Given the description of an element on the screen output the (x, y) to click on. 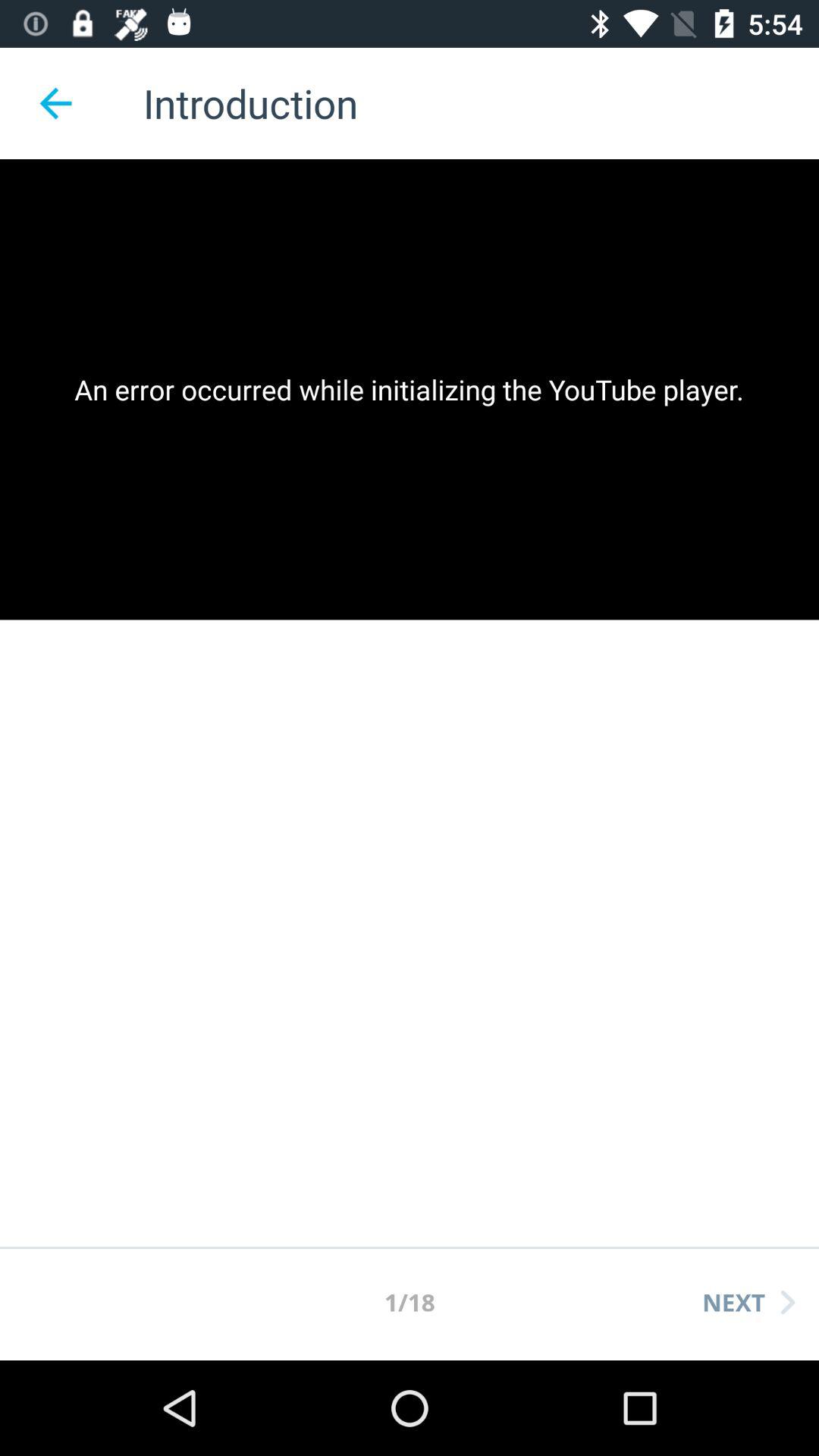
select the app above an error occurred app (55, 103)
